Given the description of an element on the screen output the (x, y) to click on. 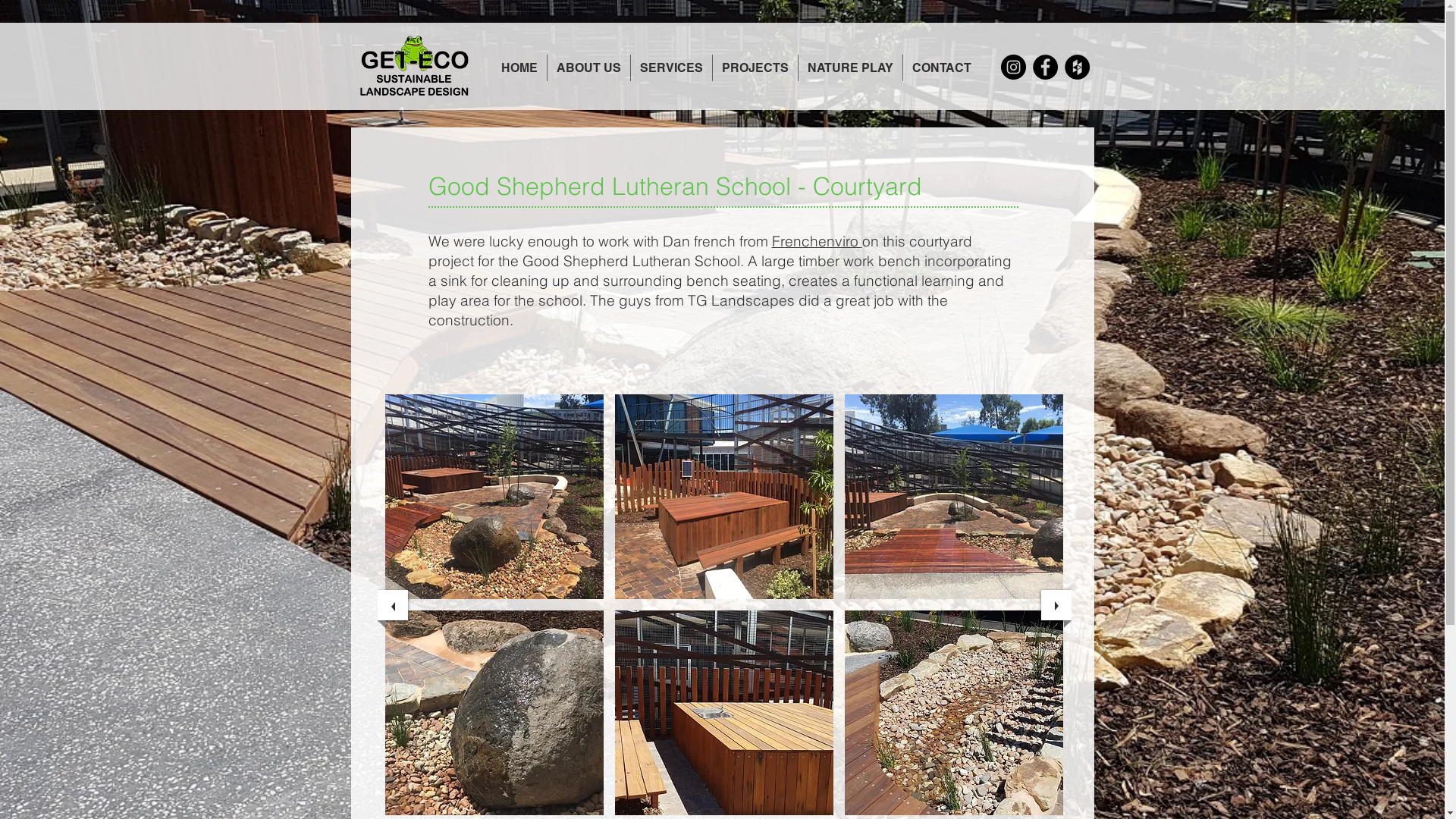
Frenchenviro Element type: text (816, 241)
PROJECTS Element type: text (754, 67)
SERVICES Element type: text (671, 67)
CONTACT Element type: text (940, 67)
HOME Element type: text (518, 67)
NATURE PLAY Element type: text (849, 67)
ABOUT US Element type: text (588, 67)
